Given the description of an element on the screen output the (x, y) to click on. 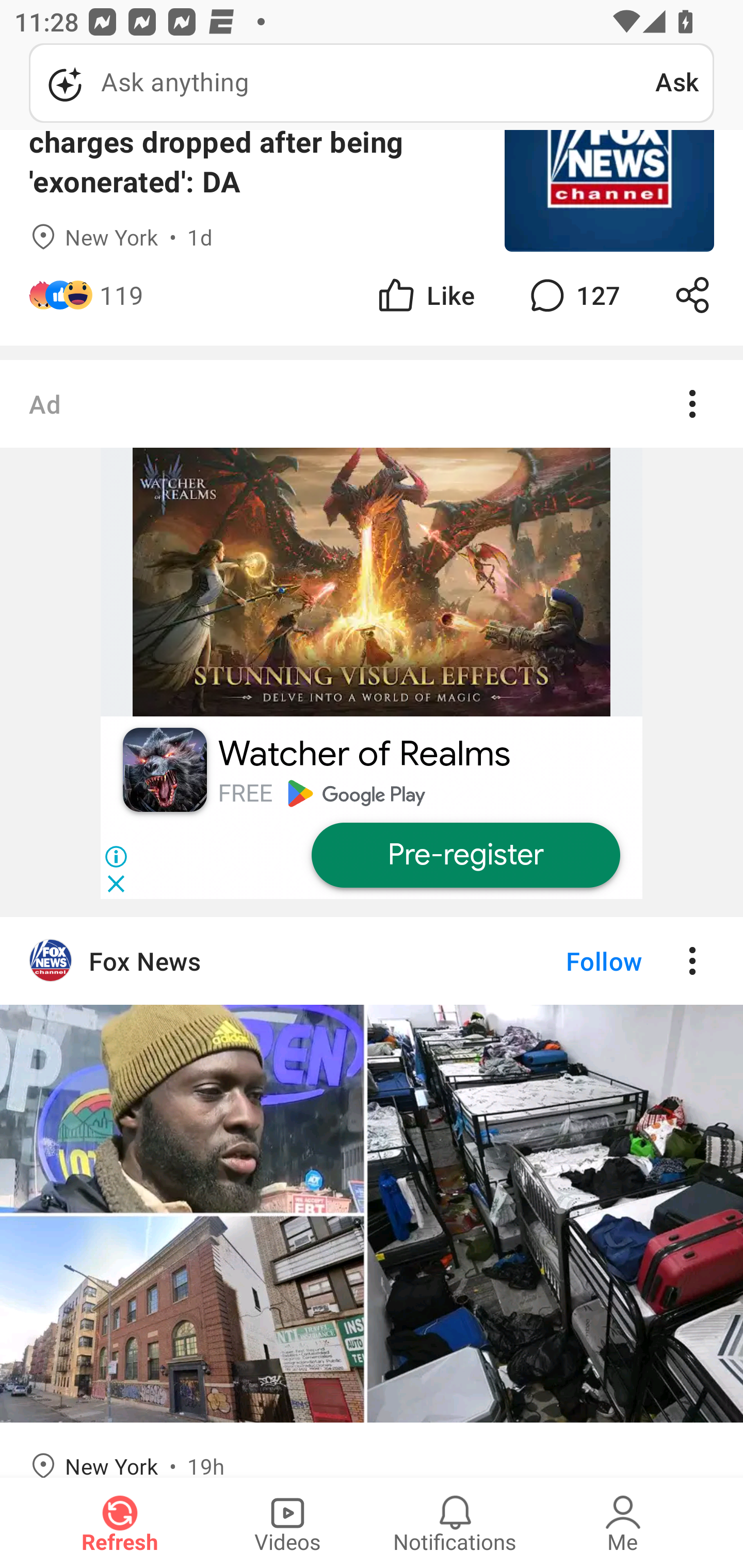
Ask anything (341, 82)
119 (121, 295)
Like (425, 295)
127 (572, 295)
Watcher of Realms (364, 753)
FREE (245, 793)
Pre-register (464, 855)
Fox News Follow New York   •  19h (371, 1197)
Fox News Follow (371, 961)
Follow (569, 961)
Videos (287, 1522)
Notifications (455, 1522)
Me (622, 1522)
